Given the description of an element on the screen output the (x, y) to click on. 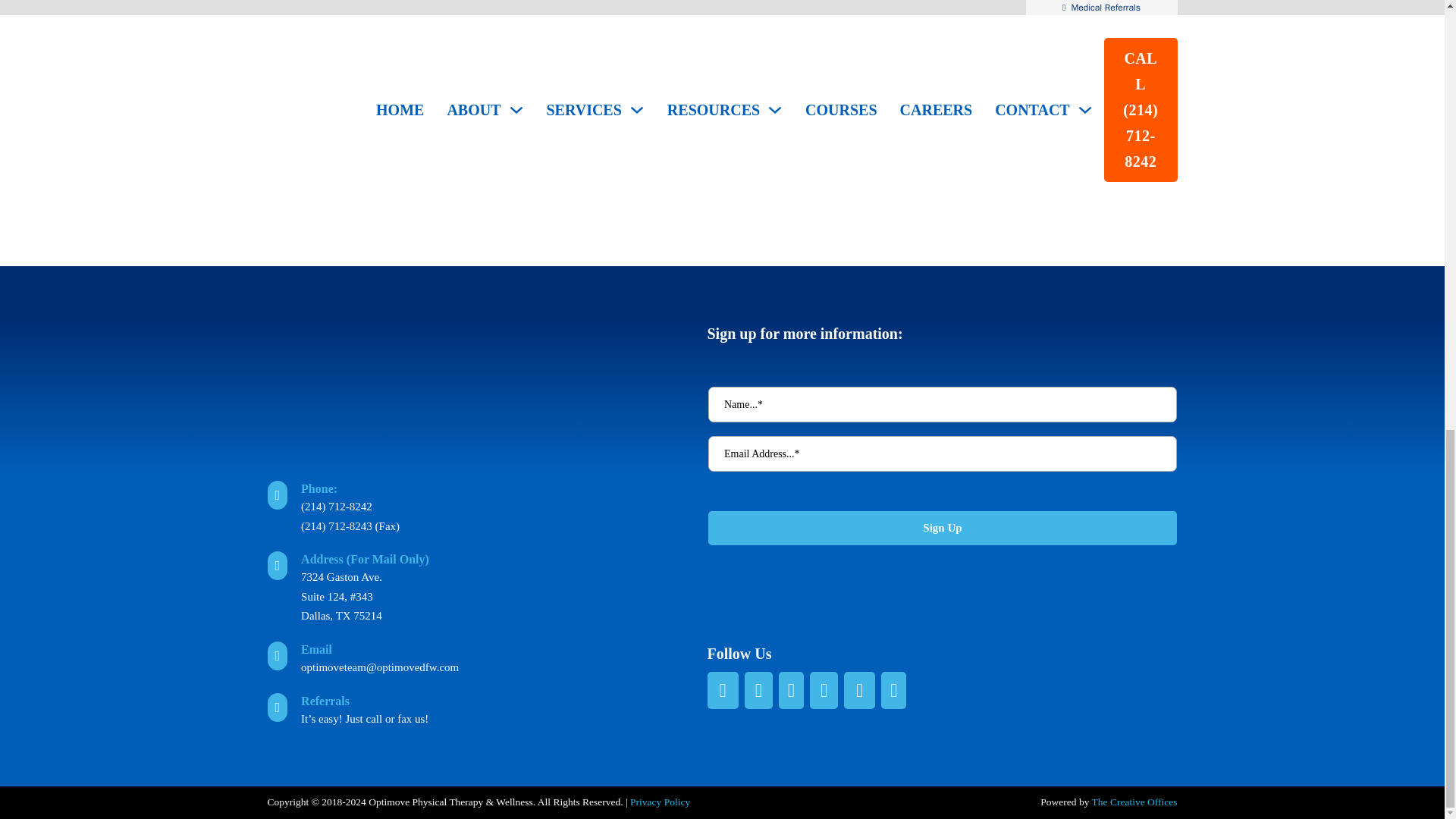
Website Newsletter (941, 485)
